Given the description of an element on the screen output the (x, y) to click on. 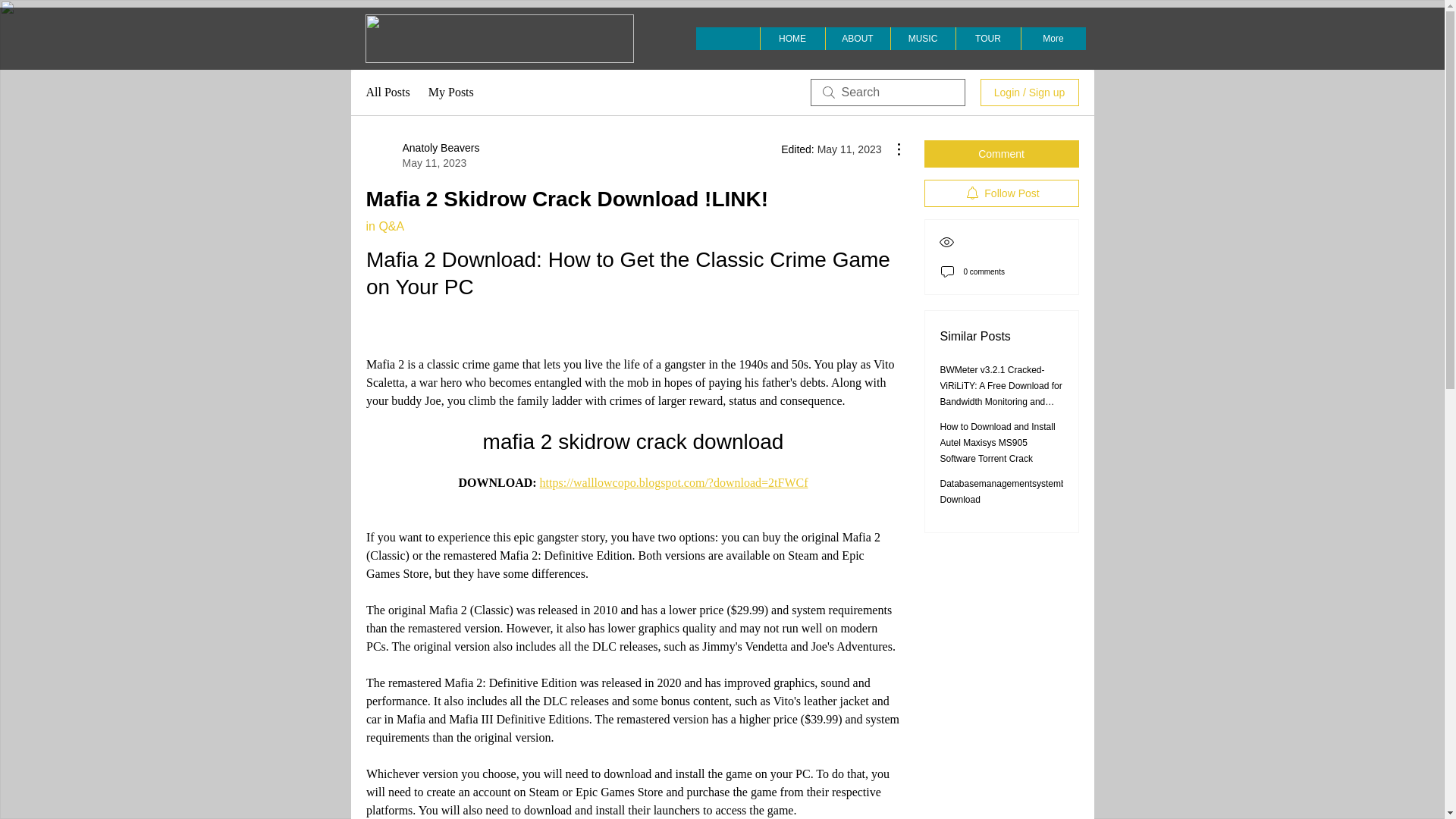
Follow Post (1000, 193)
MUSIC (922, 38)
My Posts (451, 92)
HOME (792, 38)
TOUR (987, 38)
ABOUT (857, 38)
Comment (1000, 153)
All Posts (387, 92)
